Given the description of an element on the screen output the (x, y) to click on. 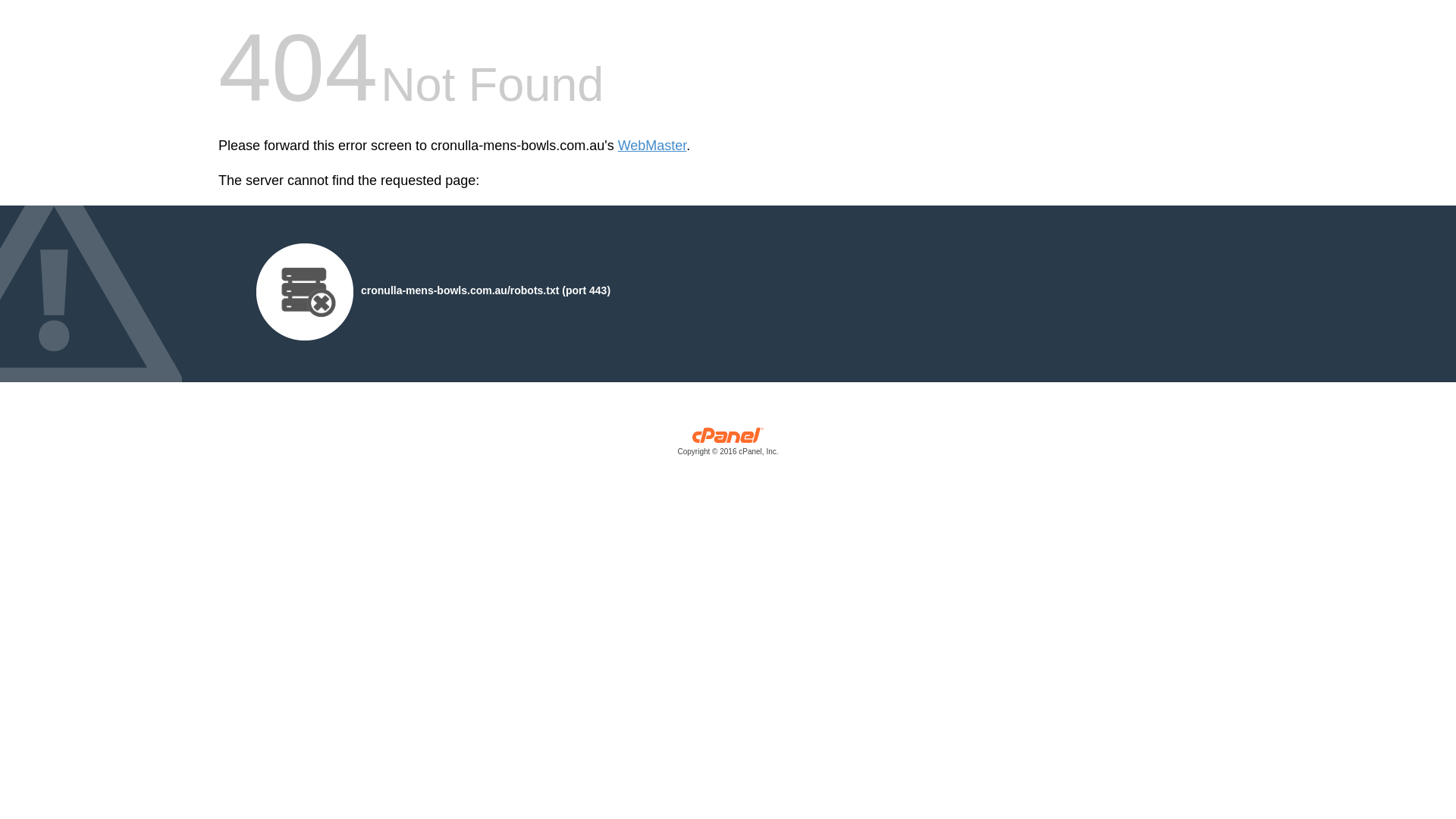
WebMaster Element type: text (652, 145)
